Given the description of an element on the screen output the (x, y) to click on. 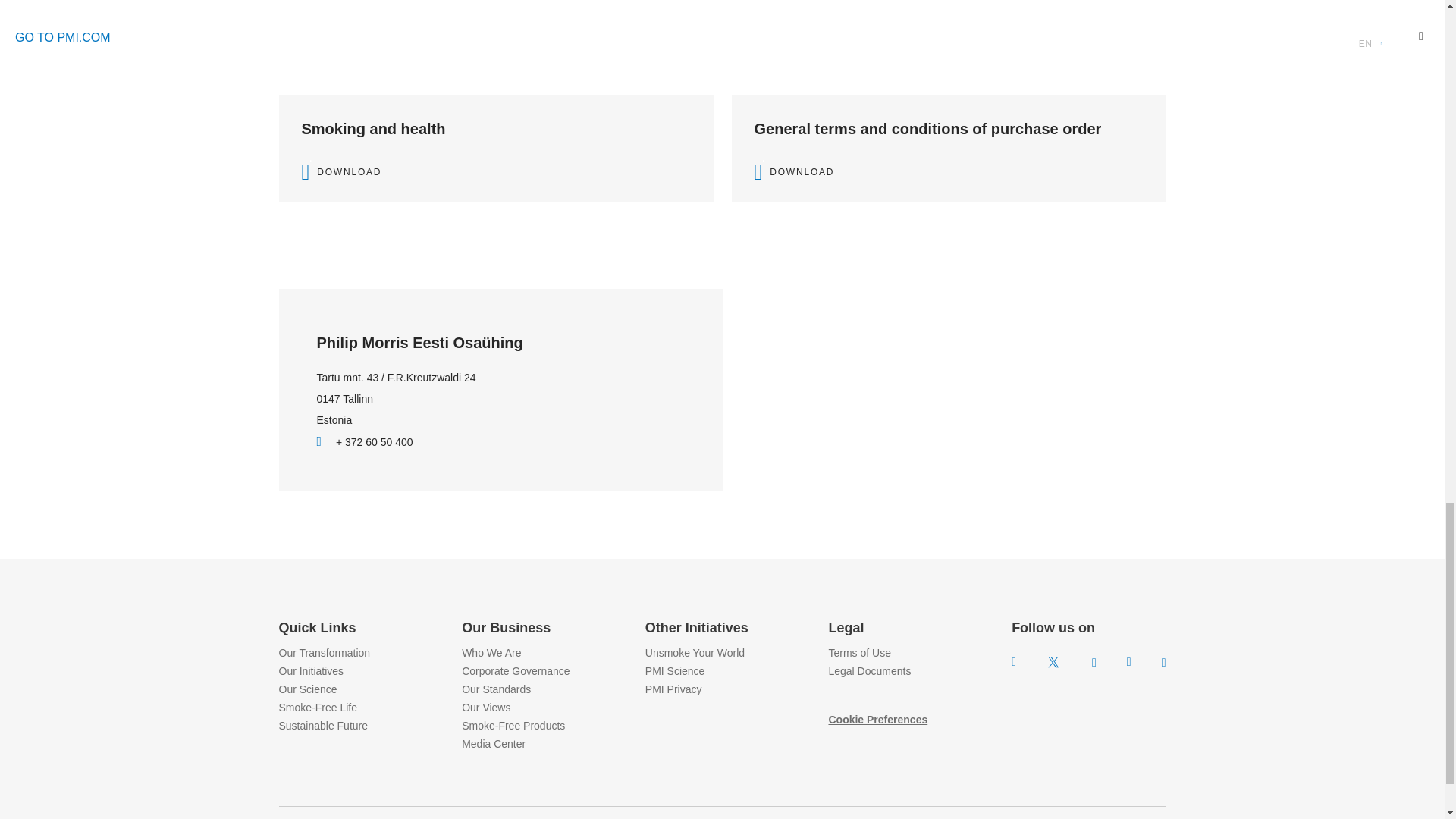
Who We Are (491, 653)
Our Views (486, 707)
Unsmoke Your World (694, 653)
Smoke-Free Life (317, 707)
Our Science (308, 689)
Legal Documents (869, 671)
PMI Privacy (673, 689)
Our Initiatives (311, 671)
Smoke-Free Products (512, 725)
Corporate Governance (515, 671)
